Given the description of an element on the screen output the (x, y) to click on. 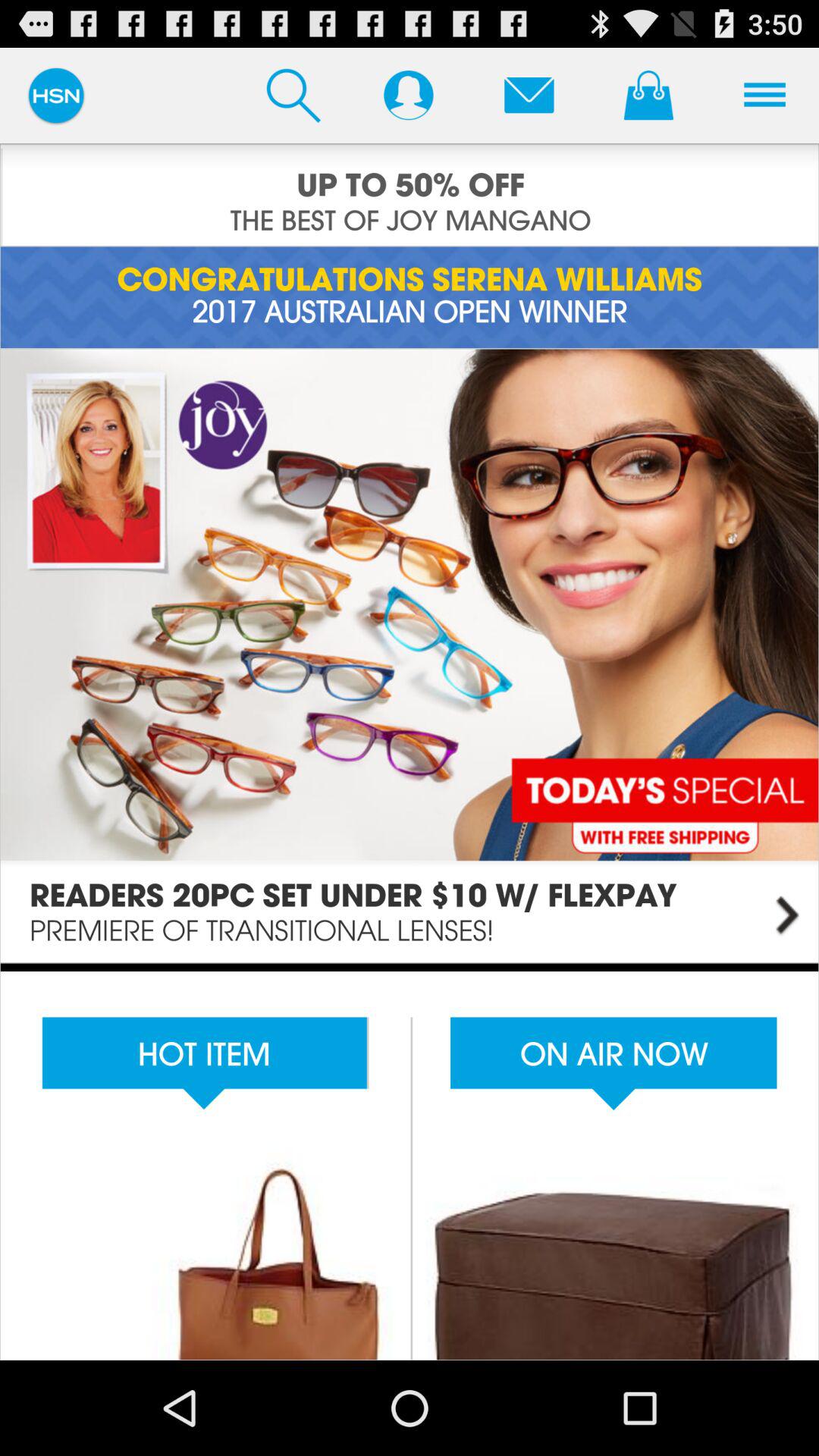
click to view the item (409, 1161)
